Given the description of an element on the screen output the (x, y) to click on. 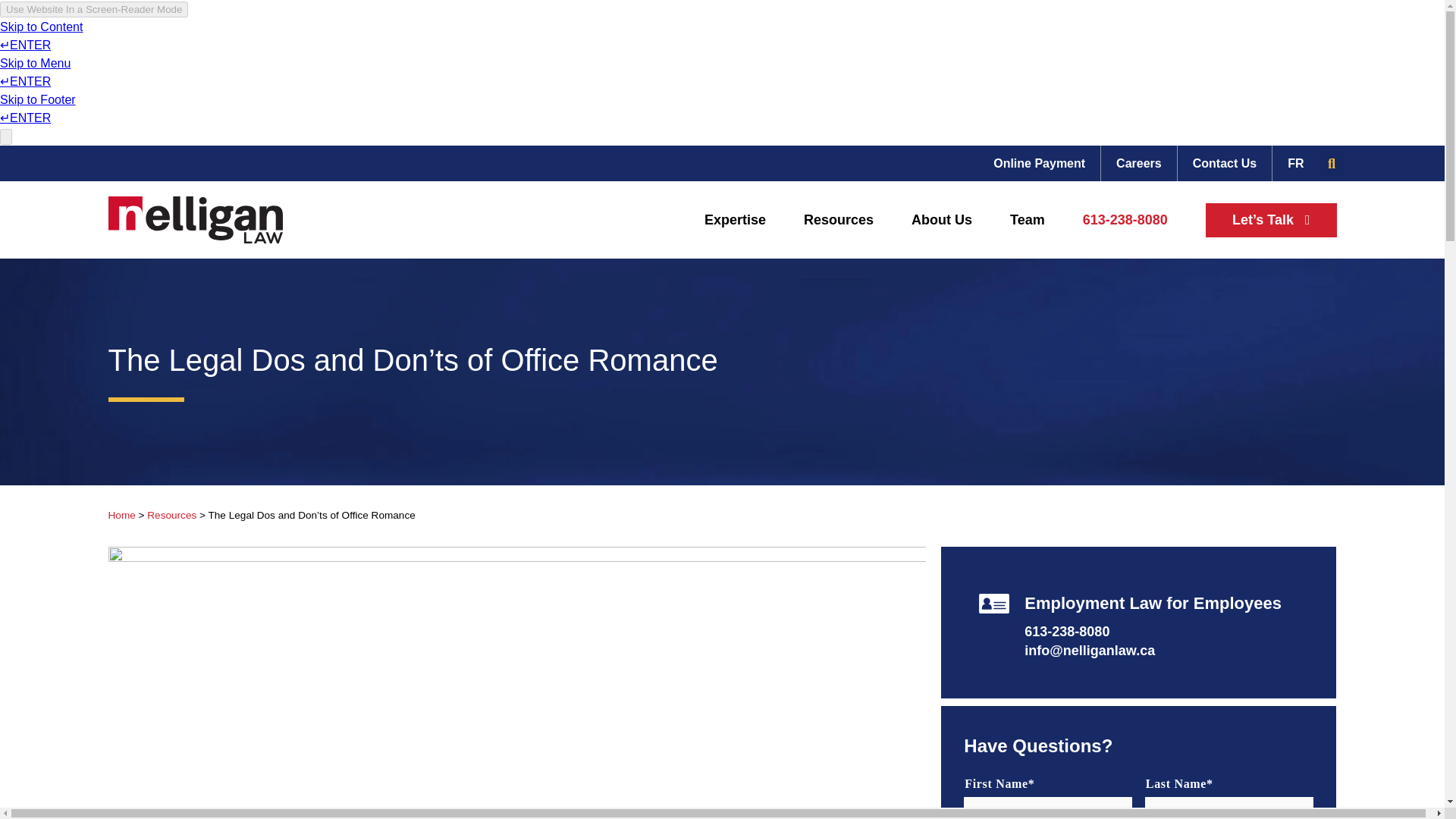
Online Payment (1039, 162)
About Us (941, 220)
Team (1027, 220)
FR (1295, 162)
613-238-8080 (1125, 220)
Resources (838, 220)
Expertise (734, 220)
Contact Us (1224, 162)
Careers (1138, 162)
